Given the description of an element on the screen output the (x, y) to click on. 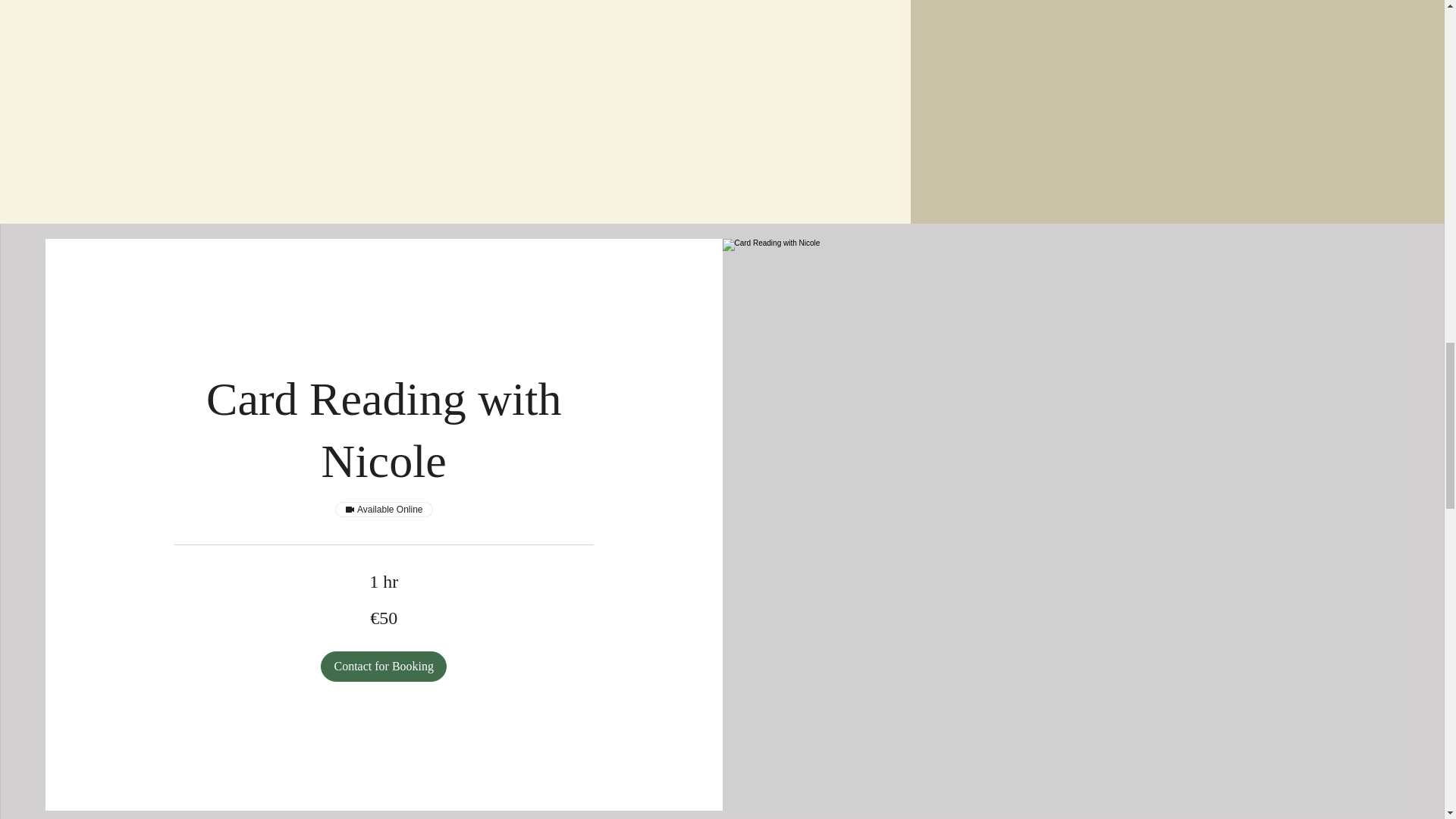
Contact for Booking (383, 666)
Card Reading with Nicole (384, 430)
